Given the description of an element on the screen output the (x, y) to click on. 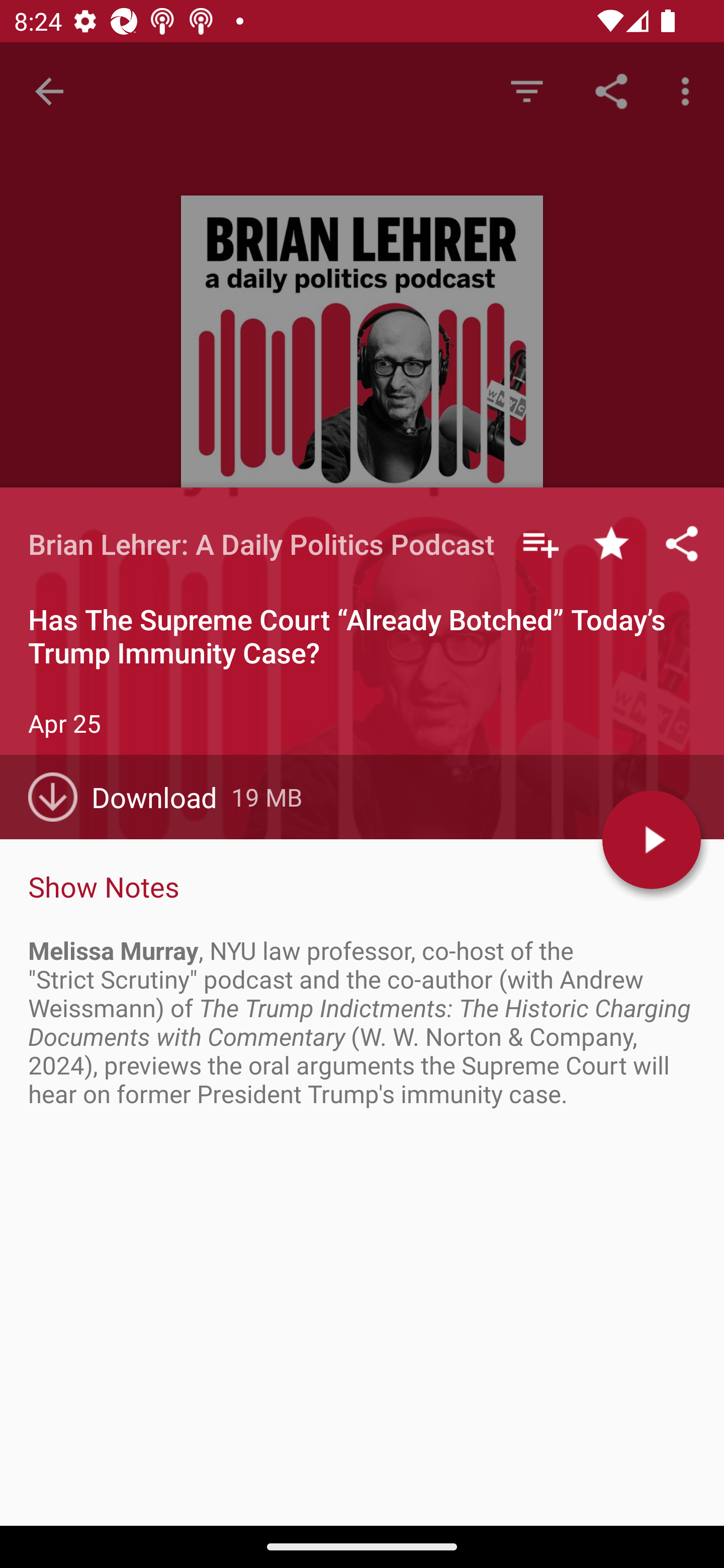
Download (129, 797)
